Given the description of an element on the screen output the (x, y) to click on. 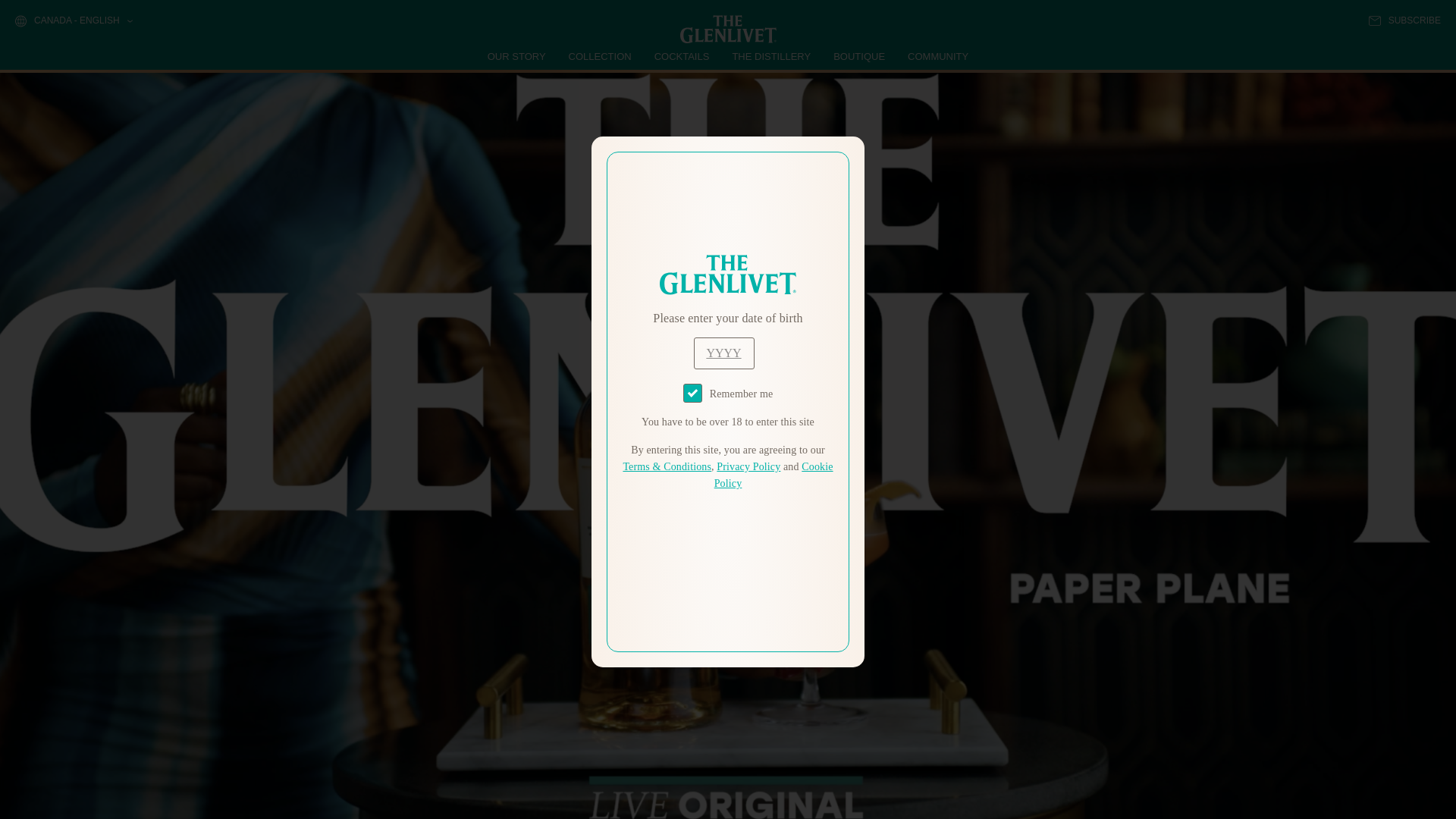
Privacy Policy (748, 466)
CANADA - ENGLISH (73, 21)
Cookie Policy (773, 474)
COLLECTION (600, 56)
COMMUNITY (937, 56)
THE DISTILLERY (771, 56)
year (723, 353)
SUBSCRIBE (1404, 20)
COCKTAILS (681, 56)
BOUTIQUE (858, 56)
